Given the description of an element on the screen output the (x, y) to click on. 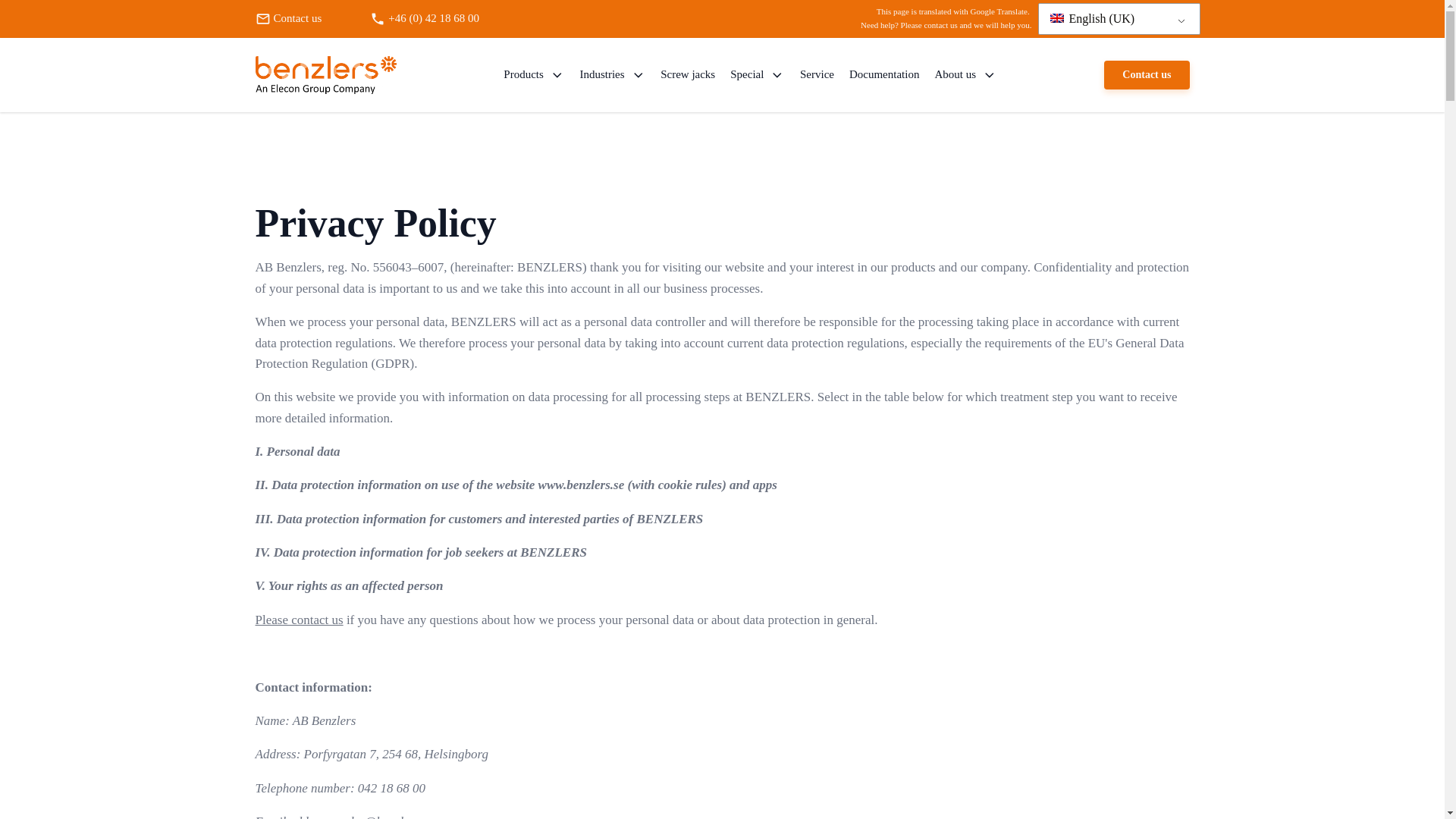
Contact us (309, 18)
Products (533, 74)
Industries (612, 74)
